Given the description of an element on the screen output the (x, y) to click on. 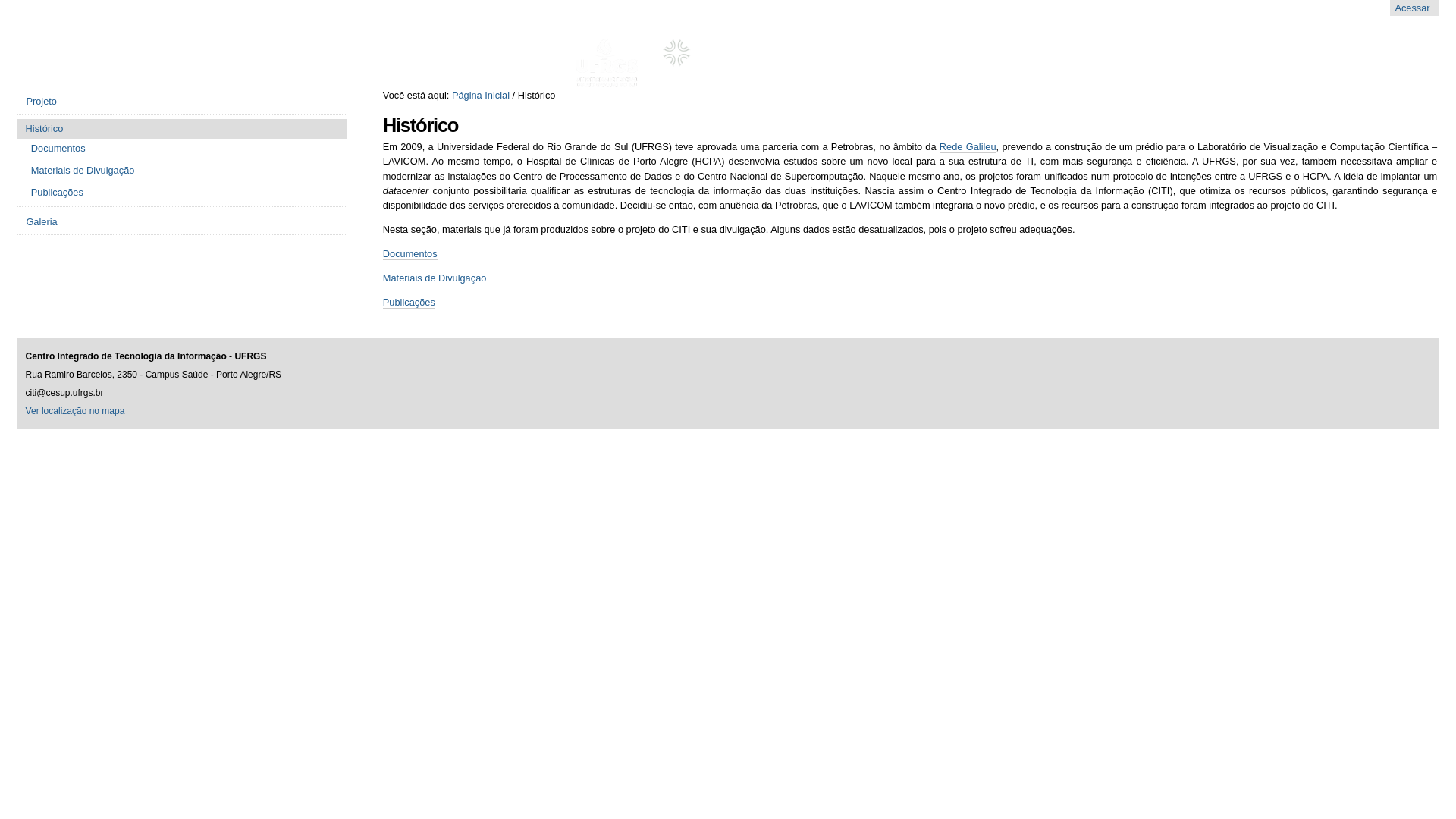
Galeria Element type: text (181, 222)
Documentos Element type: text (409, 253)
Documentos Element type: text (184, 148)
Acessar Element type: text (1411, 7)
Rede Galileu Element type: text (967, 147)
Projeto Element type: text (181, 101)
